Given the description of an element on the screen output the (x, y) to click on. 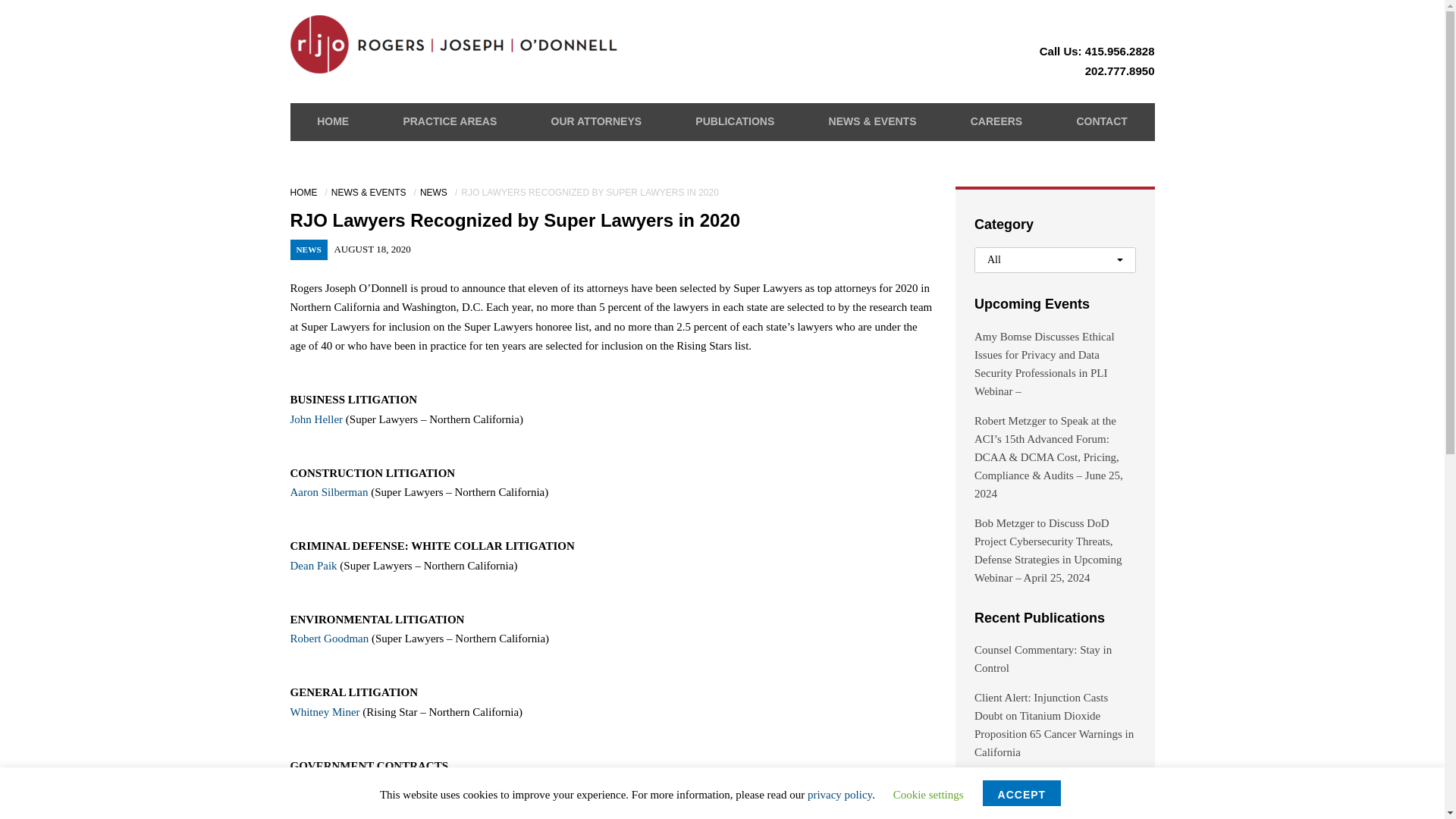
Go to Rogers Joseph O'Donnell. (304, 192)
Robert Goodman (328, 638)
John Heller (315, 419)
Lucas Hanback (324, 804)
Counsel Commentary: Stay in Control (1043, 658)
HOME (333, 121)
OUR ATTORNEYS (596, 121)
CAREERS (996, 121)
CONTACT (1100, 121)
NEWS (435, 192)
PRACTICE AREAS (449, 121)
Aaron Silberman (328, 491)
Whitney Miner (324, 711)
HOME (304, 192)
